Given the description of an element on the screen output the (x, y) to click on. 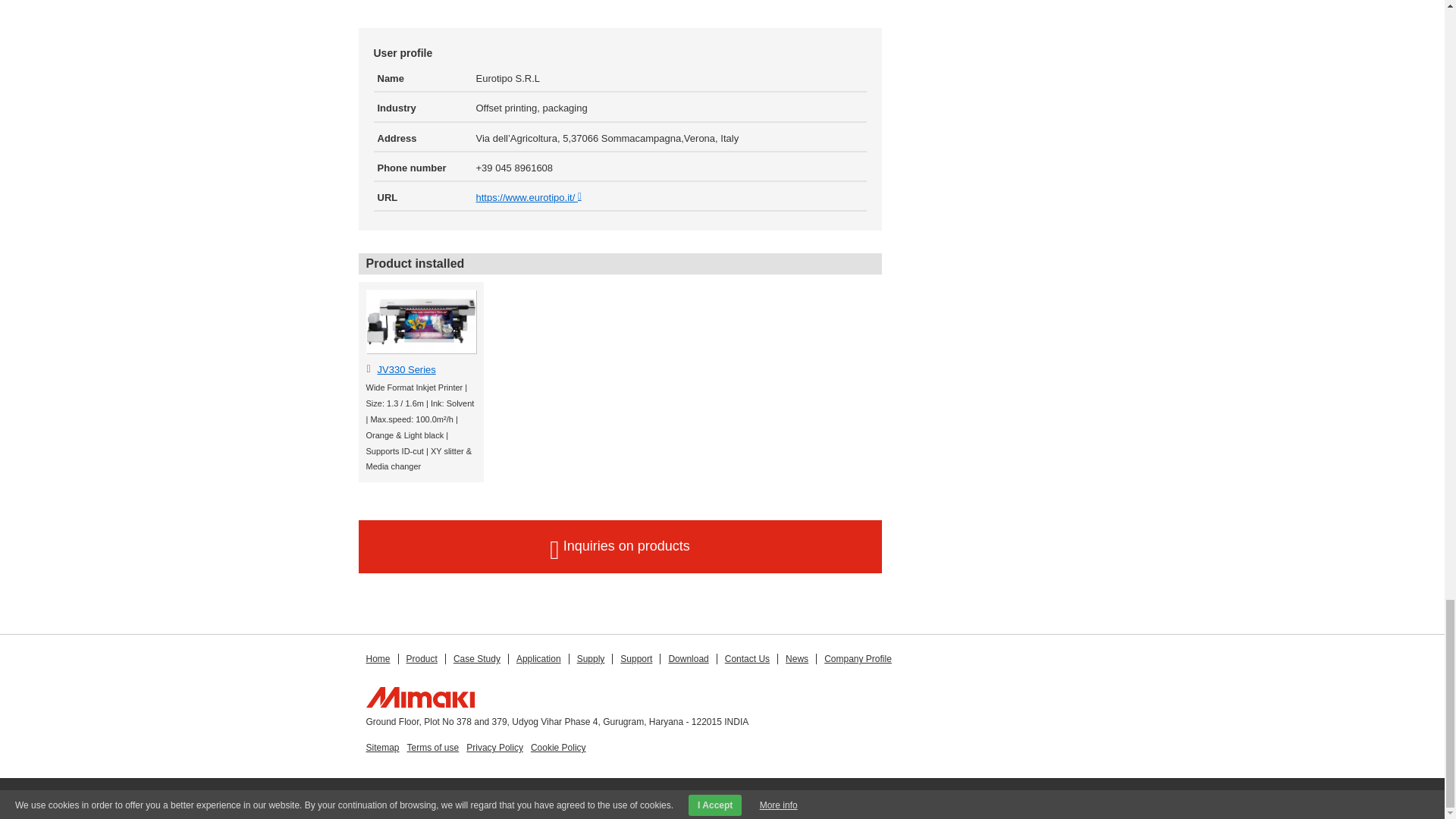
Inquiries on products (619, 546)
